Given the description of an element on the screen output the (x, y) to click on. 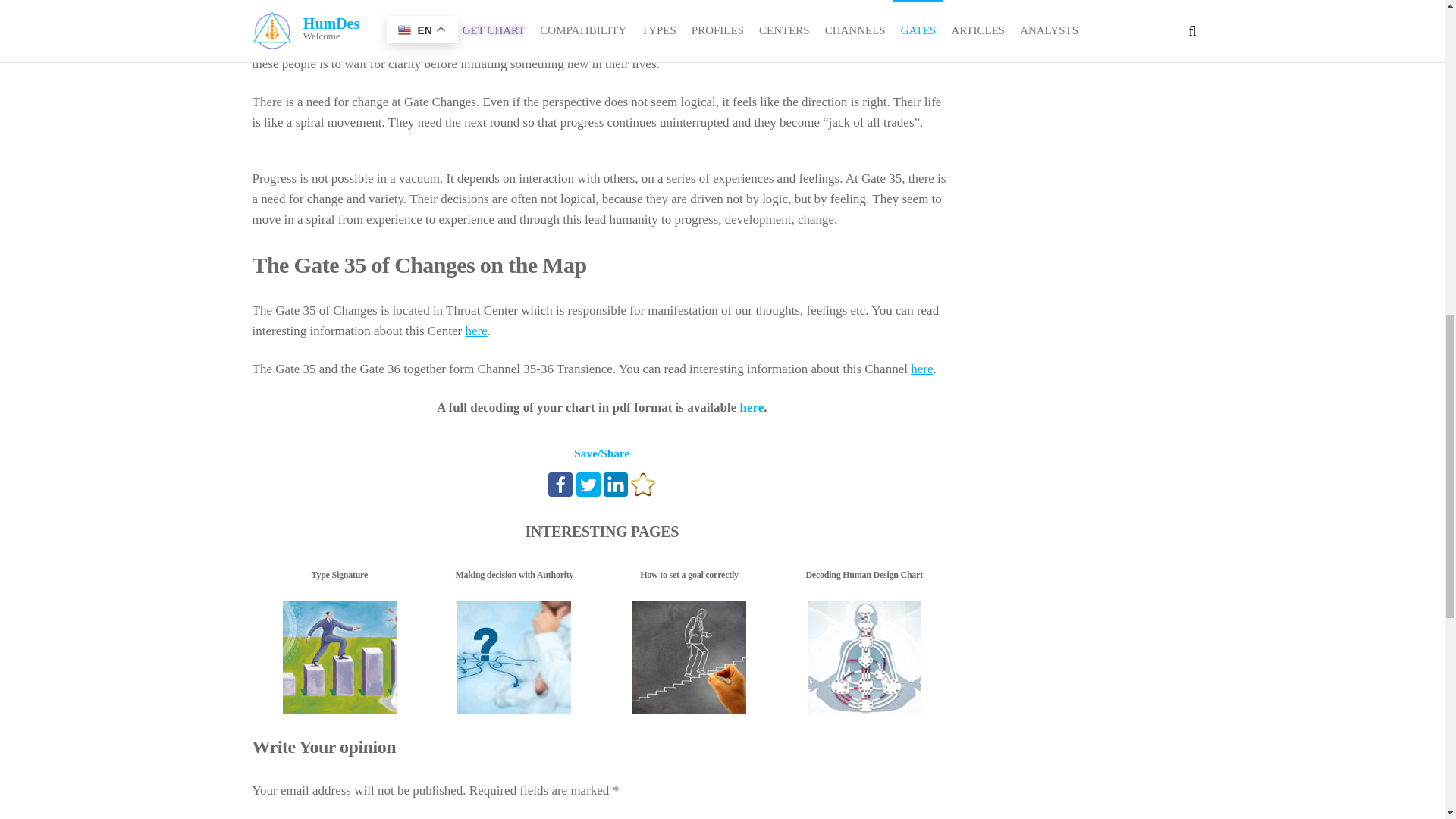
here (922, 368)
here (751, 407)
here (475, 330)
